Given the description of an element on the screen output the (x, y) to click on. 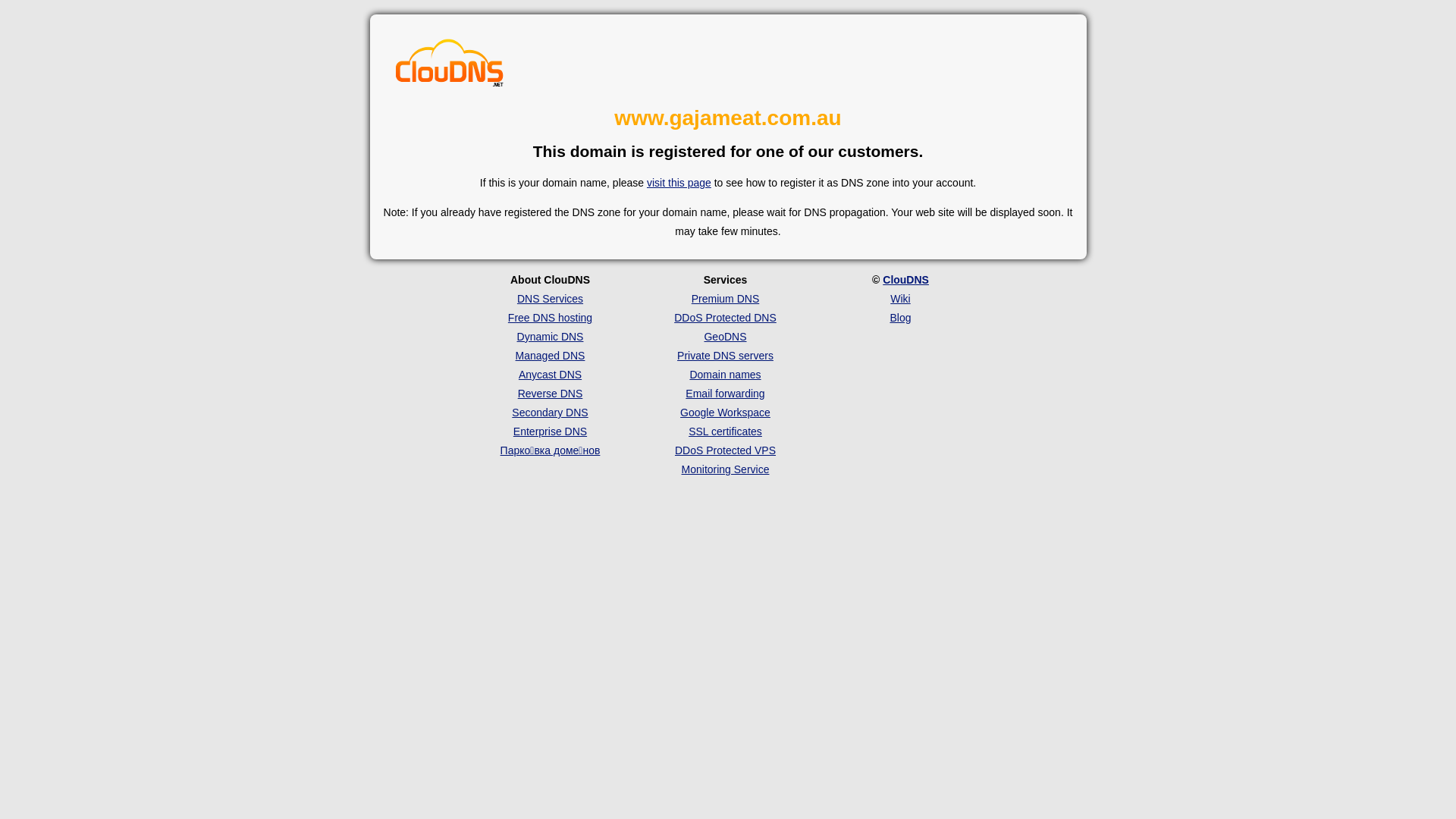
Reverse DNS Element type: text (550, 393)
Secondary DNS Element type: text (549, 412)
ClouDNS Element type: text (905, 279)
free dns hosting Element type: hover (449, 63)
Email forwarding Element type: text (724, 393)
Private DNS servers Element type: text (725, 355)
Google Workspace Element type: text (725, 412)
Premium DNS Element type: text (725, 298)
Anycast DNS Element type: text (549, 374)
Dynamic DNS Element type: text (550, 336)
DDoS Protected DNS Element type: text (725, 317)
SSL certificates Element type: text (725, 431)
Free DNS hosting Element type: text (550, 317)
DDoS Protected VPS Element type: text (724, 450)
Blog Element type: text (899, 317)
Enterprise DNS Element type: text (549, 431)
Monitoring Service Element type: text (725, 469)
DNS Services Element type: text (550, 298)
Managed DNS Element type: text (550, 355)
Domain names Element type: text (724, 374)
GeoDNS Element type: text (724, 336)
visit this page Element type: text (678, 182)
Wiki Element type: text (900, 298)
